Given the description of an element on the screen output the (x, y) to click on. 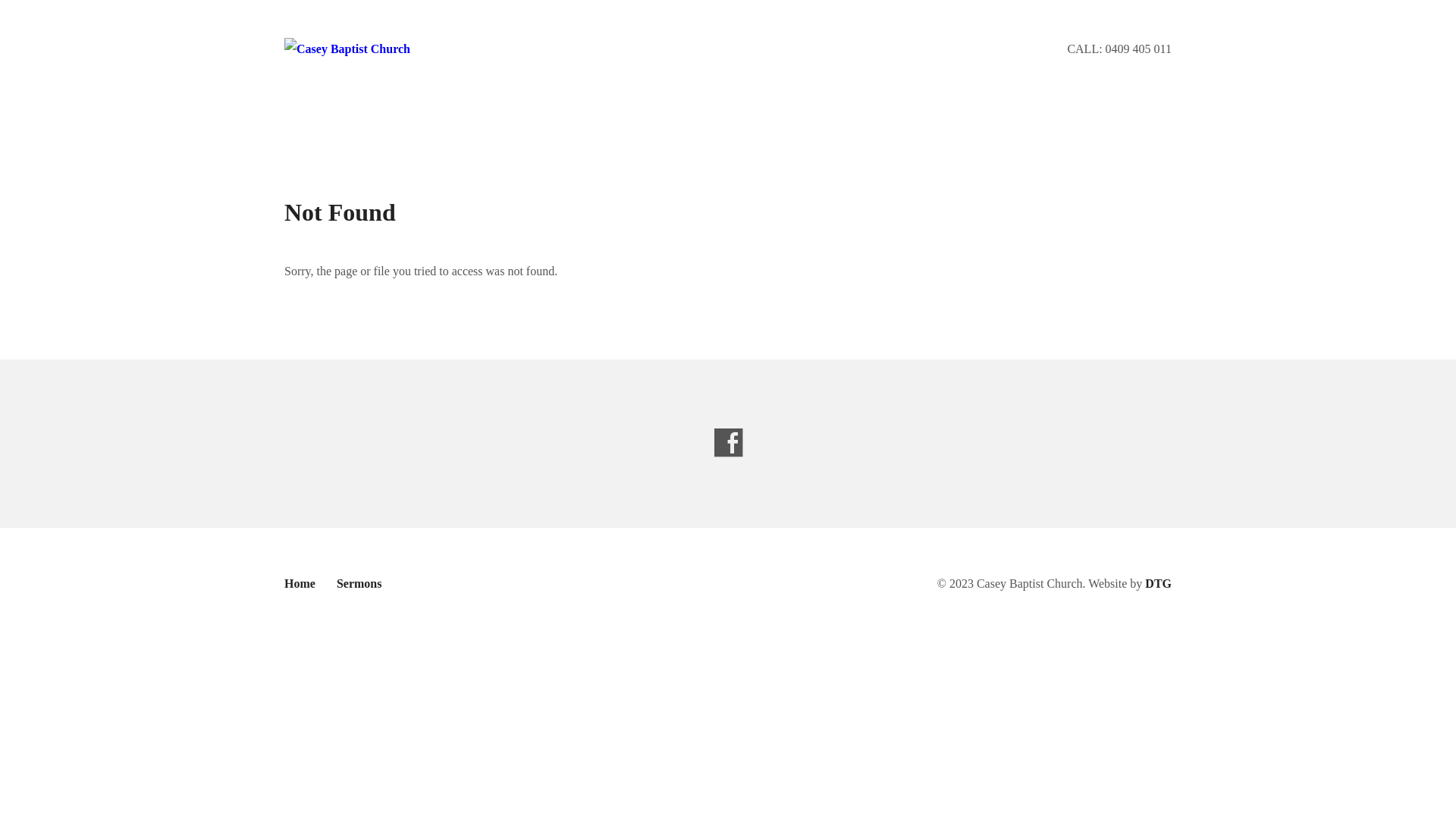
Facebook Element type: hover (728, 442)
On Track Ministry Element type: text (666, 120)
Sermons Element type: text (559, 120)
DTG Element type: text (1158, 583)
About Us Element type: text (372, 120)
Facebook Element type: hover (1163, 120)
Sermons Element type: text (359, 583)
Home Element type: text (302, 120)
Contact Us Element type: text (781, 120)
Home Element type: text (299, 583)
Youth & Kids Element type: text (467, 120)
